Given the description of an element on the screen output the (x, y) to click on. 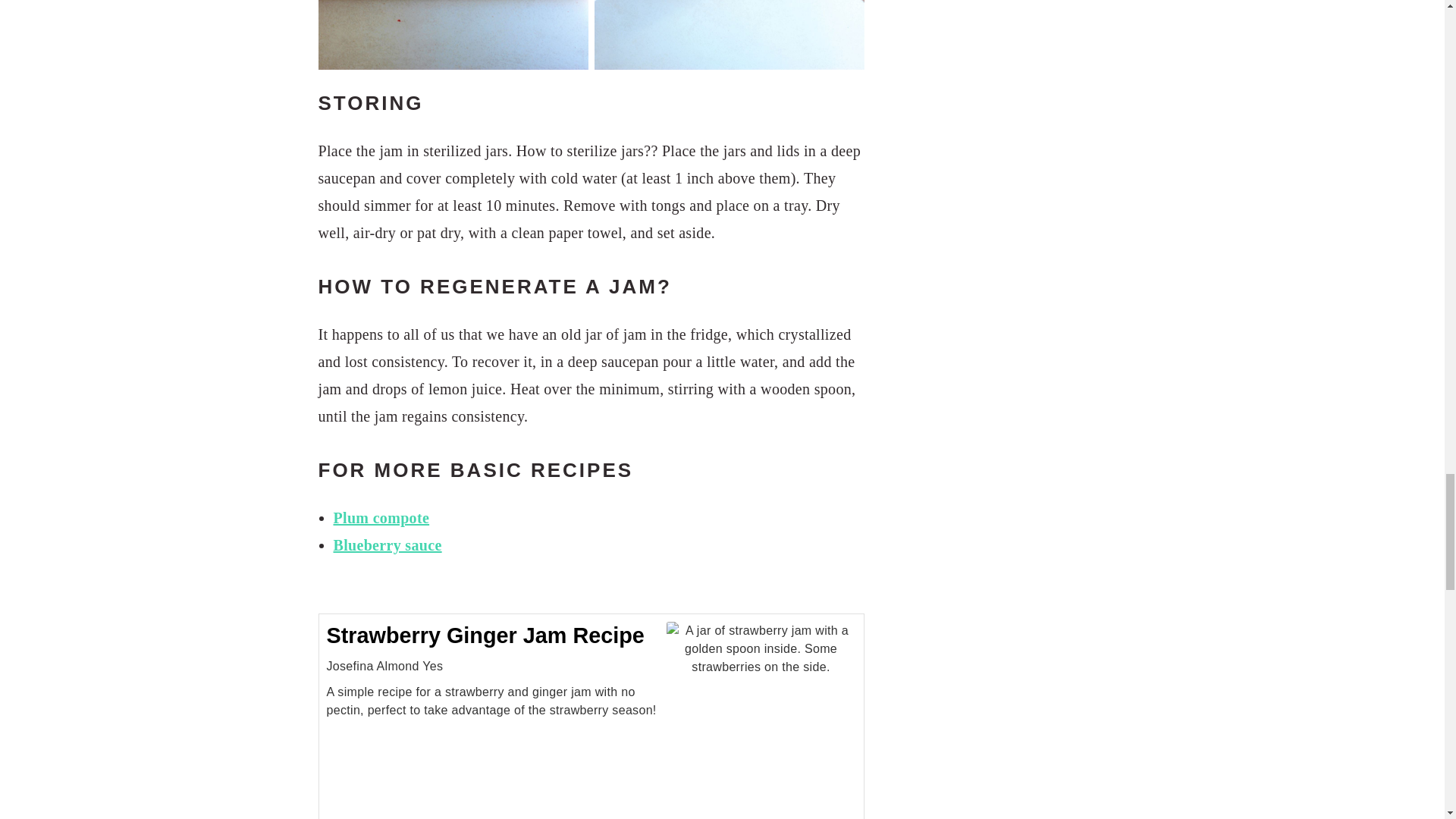
Blueberry sauce (387, 545)
Plum compote (381, 517)
